Given the description of an element on the screen output the (x, y) to click on. 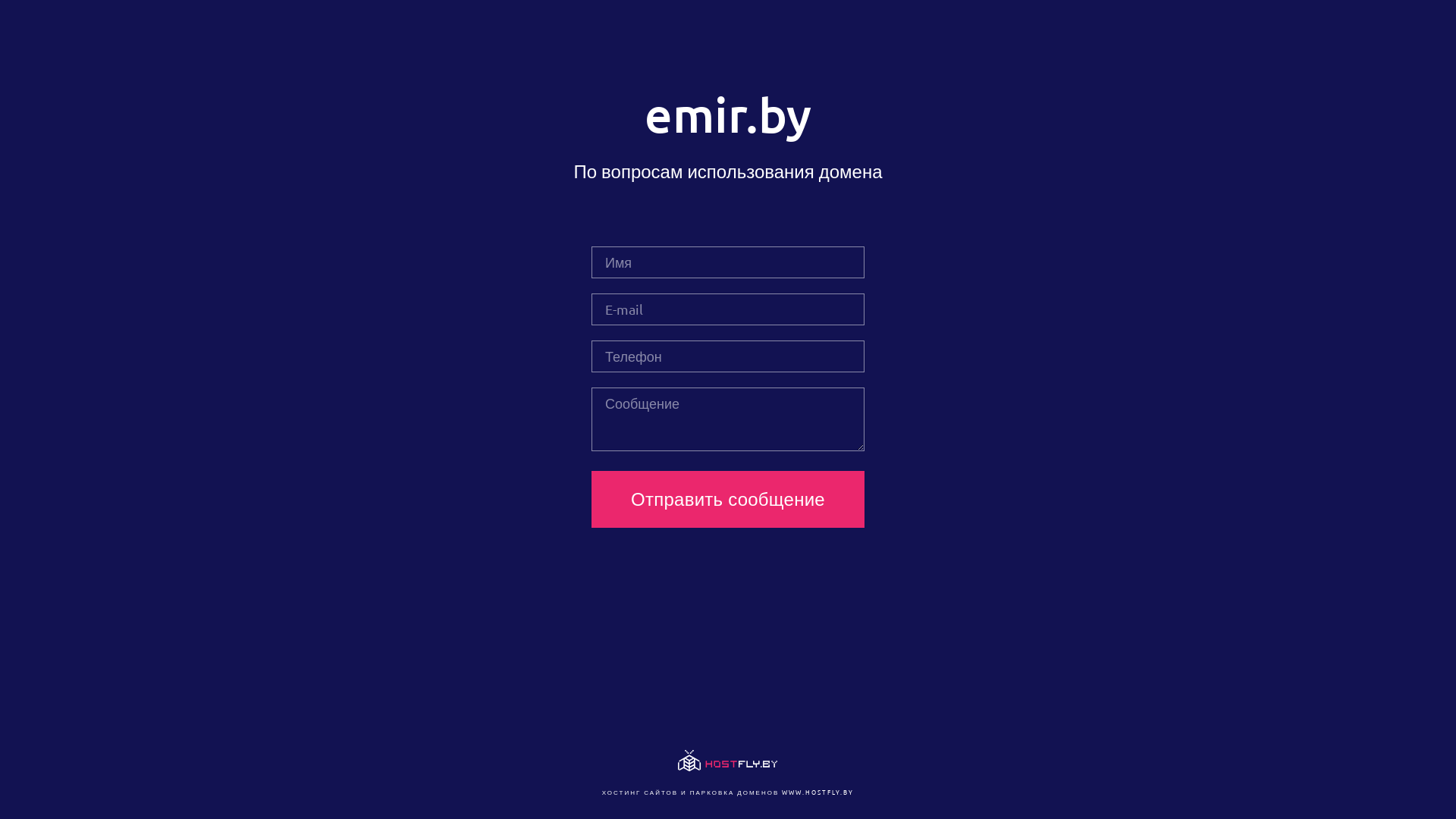
WWW.HOSTFLY.BY Element type: text (817, 791)
